Given the description of an element on the screen output the (x, y) to click on. 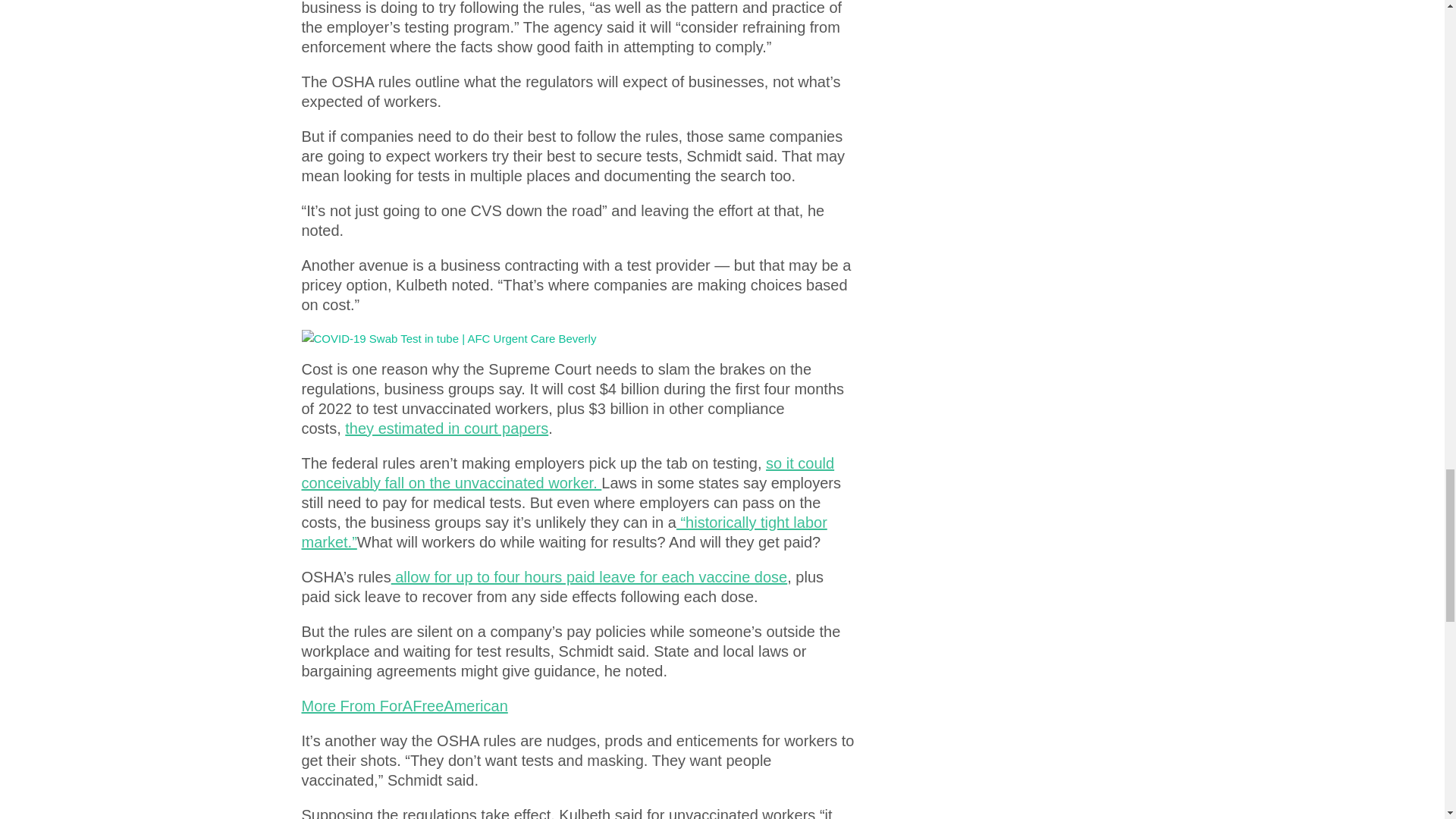
they estimated in court papers (446, 428)
so it could conceivably fall on the unvaccinated worker.  (567, 473)
